Given the description of an element on the screen output the (x, y) to click on. 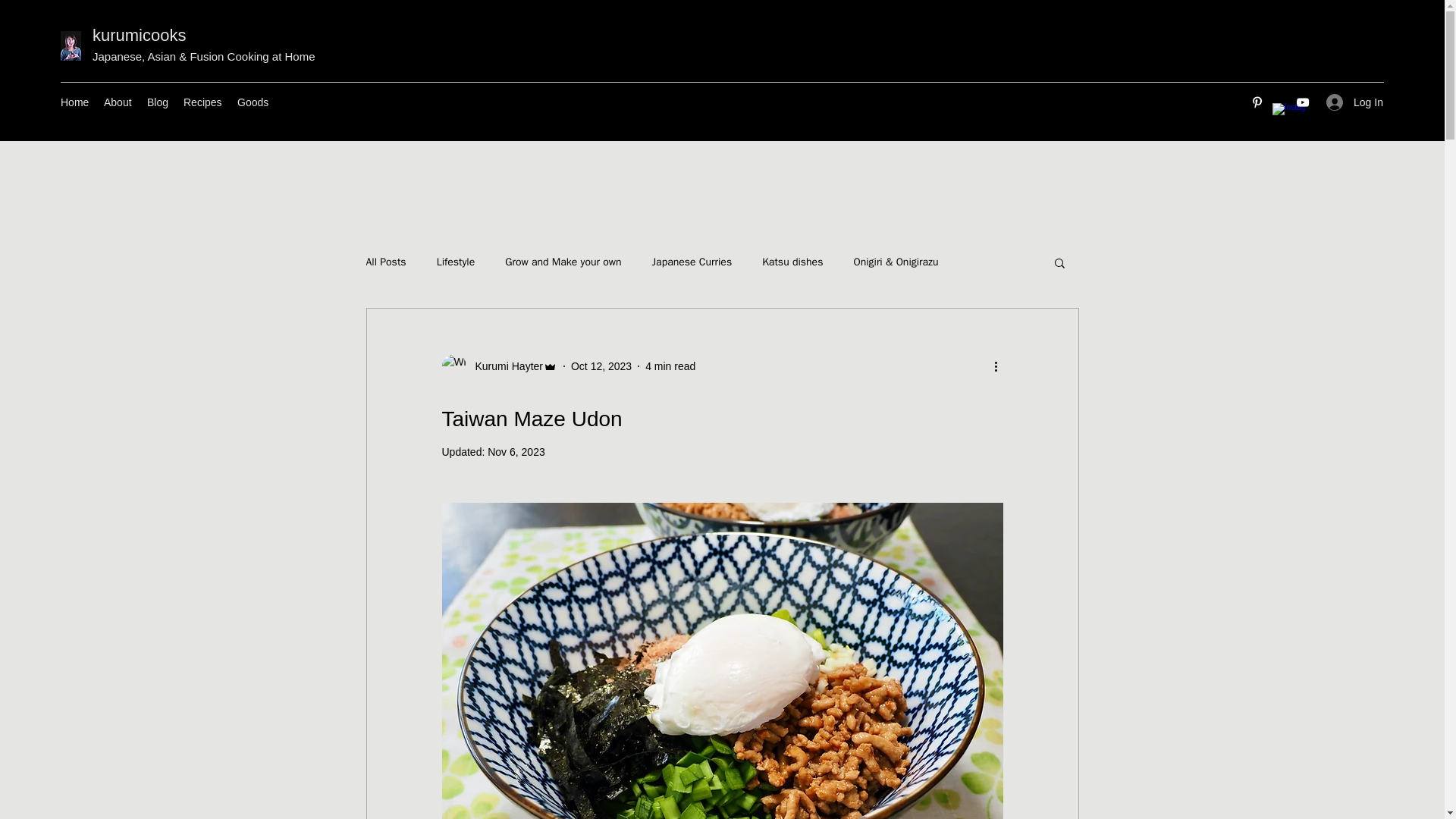
About (117, 101)
Oct 12, 2023 (600, 366)
Log In (1350, 102)
Blog (157, 101)
Kurumi Hayter (503, 366)
All Posts (385, 262)
Goods (253, 101)
kurumicooks (139, 35)
4 min read (670, 366)
Home (74, 101)
Katsu dishes (791, 262)
Lifestyle (456, 262)
Nov 6, 2023 (515, 451)
Japanese Curries (692, 262)
Recipes (203, 101)
